Given the description of an element on the screen output the (x, y) to click on. 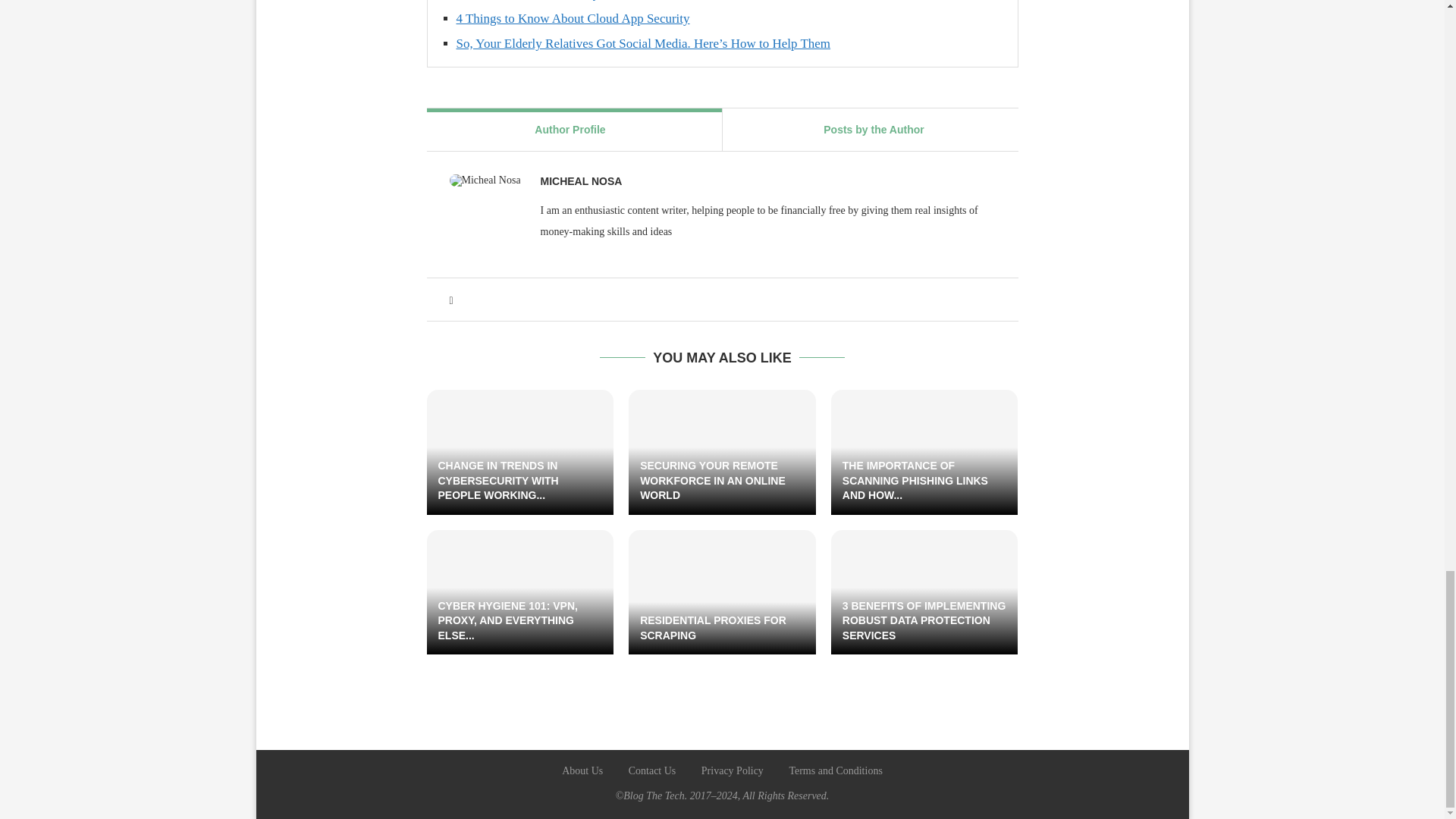
Author Profile (569, 129)
Posts by the Author (873, 129)
4 Things to Know About Cloud App Security (573, 18)
